Given the description of an element on the screen output the (x, y) to click on. 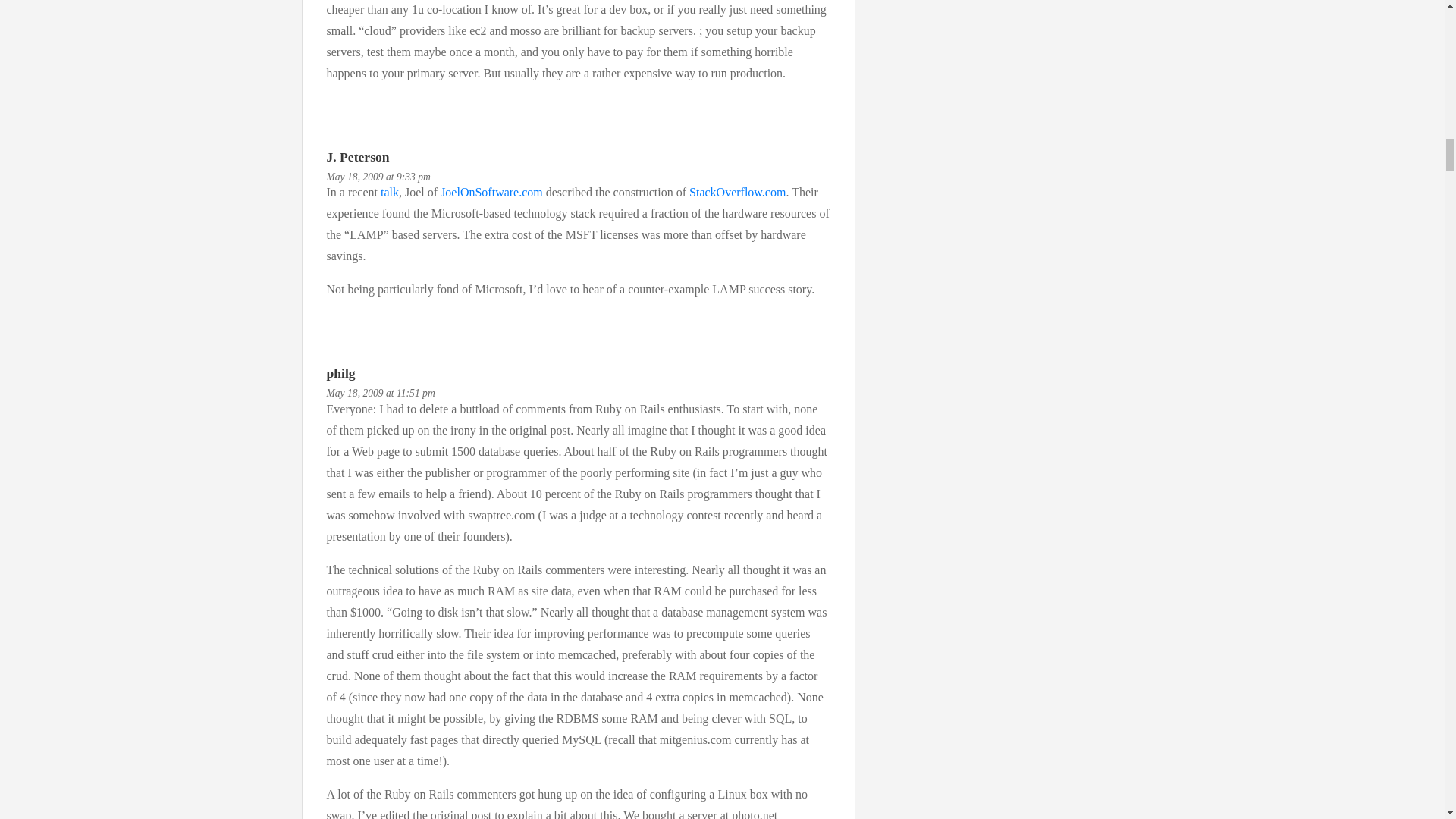
J. Peterson (357, 156)
StackOverflow.com (737, 192)
JoelOnSoftware.com (492, 192)
philg (340, 372)
May 18, 2009 at 11:51 pm (379, 392)
May 18, 2009 at 9:33 pm (377, 176)
talk (389, 192)
